Given the description of an element on the screen output the (x, y) to click on. 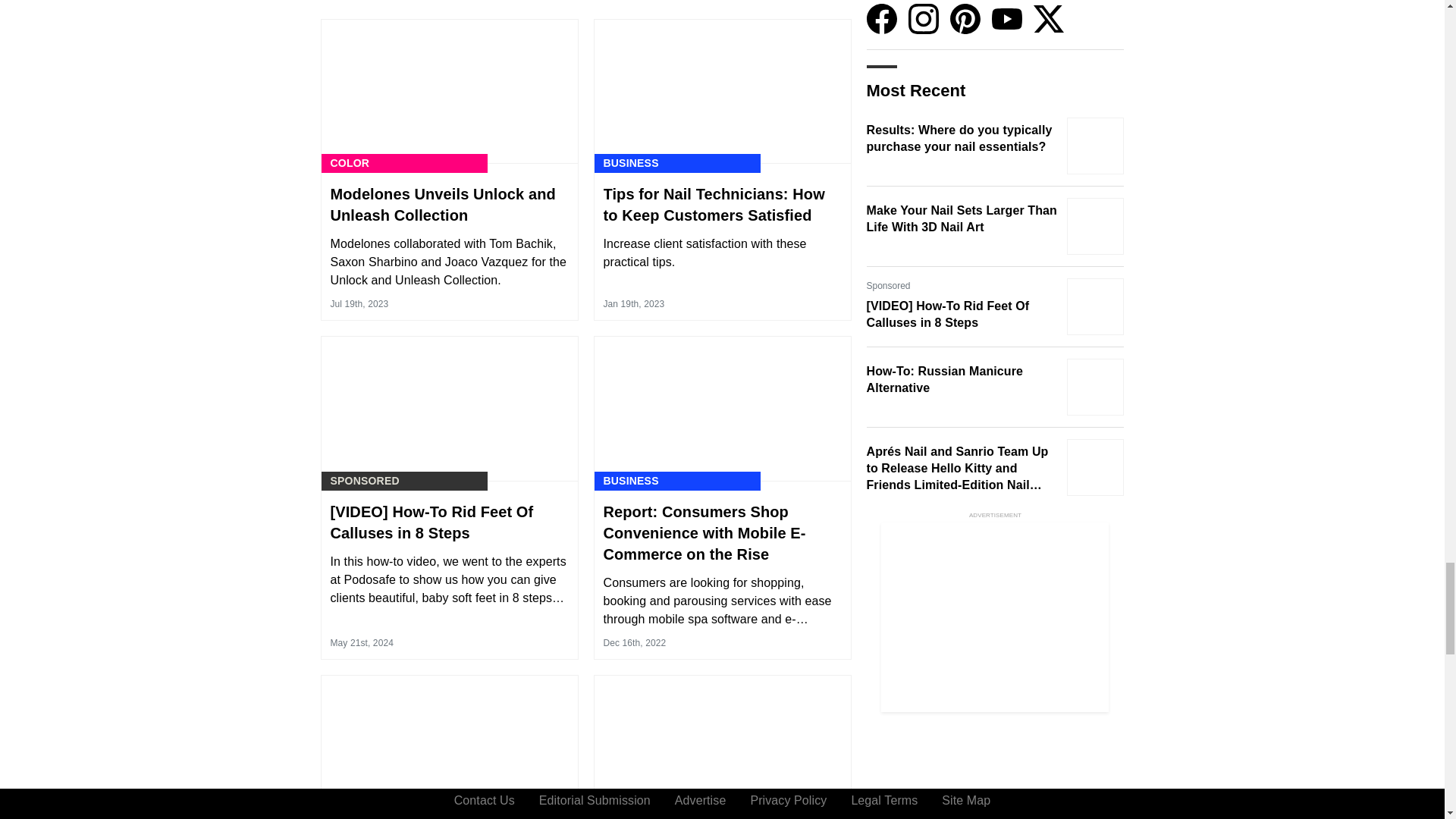
YouTube icon (1006, 19)
Facebook icon (881, 19)
Instagram icon (923, 19)
Twitter X icon (1047, 19)
Pinterest icon (964, 19)
